Given the description of an element on the screen output the (x, y) to click on. 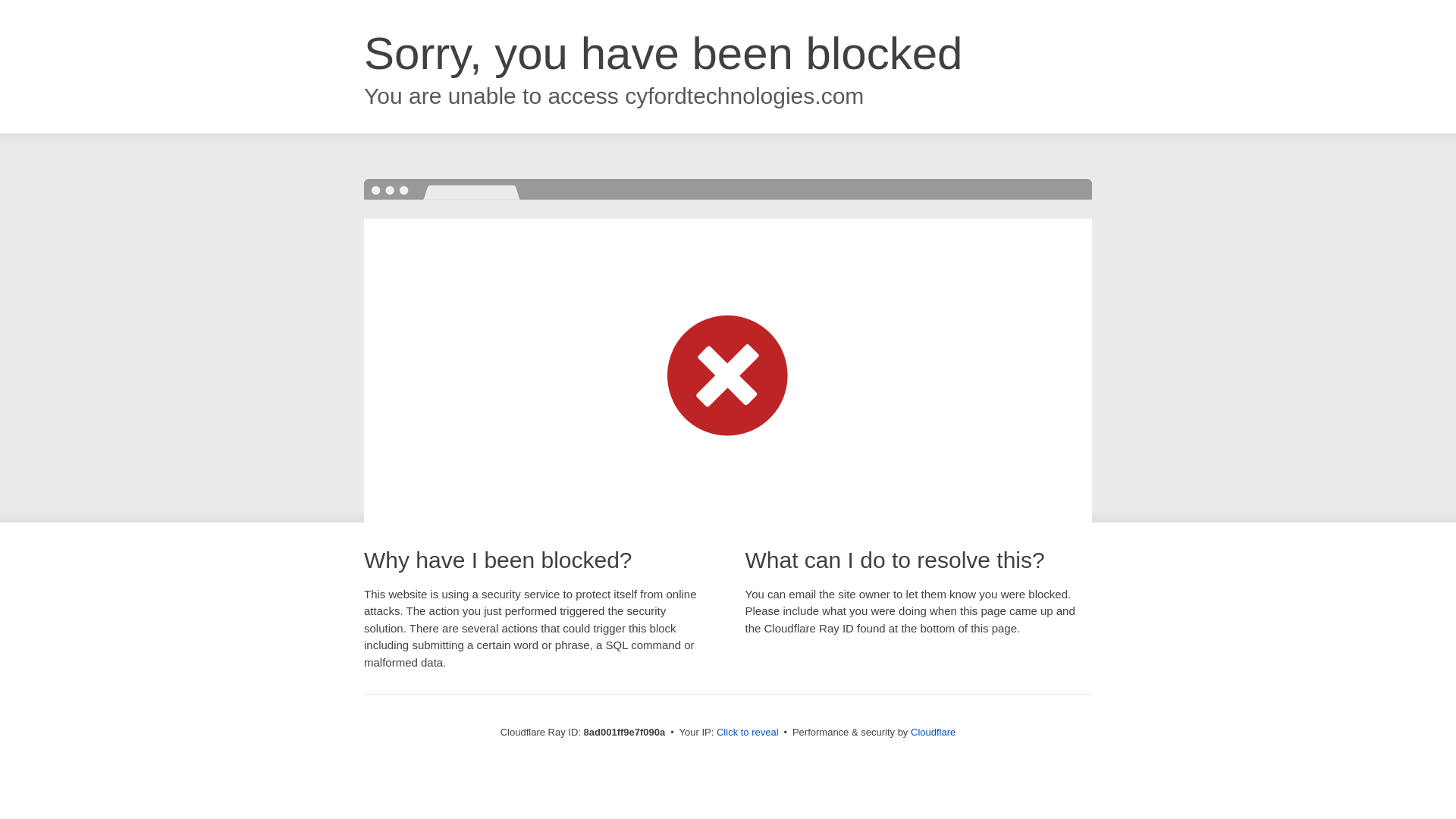
Click to reveal (747, 732)
Cloudflare (933, 731)
